Given the description of an element on the screen output the (x, y) to click on. 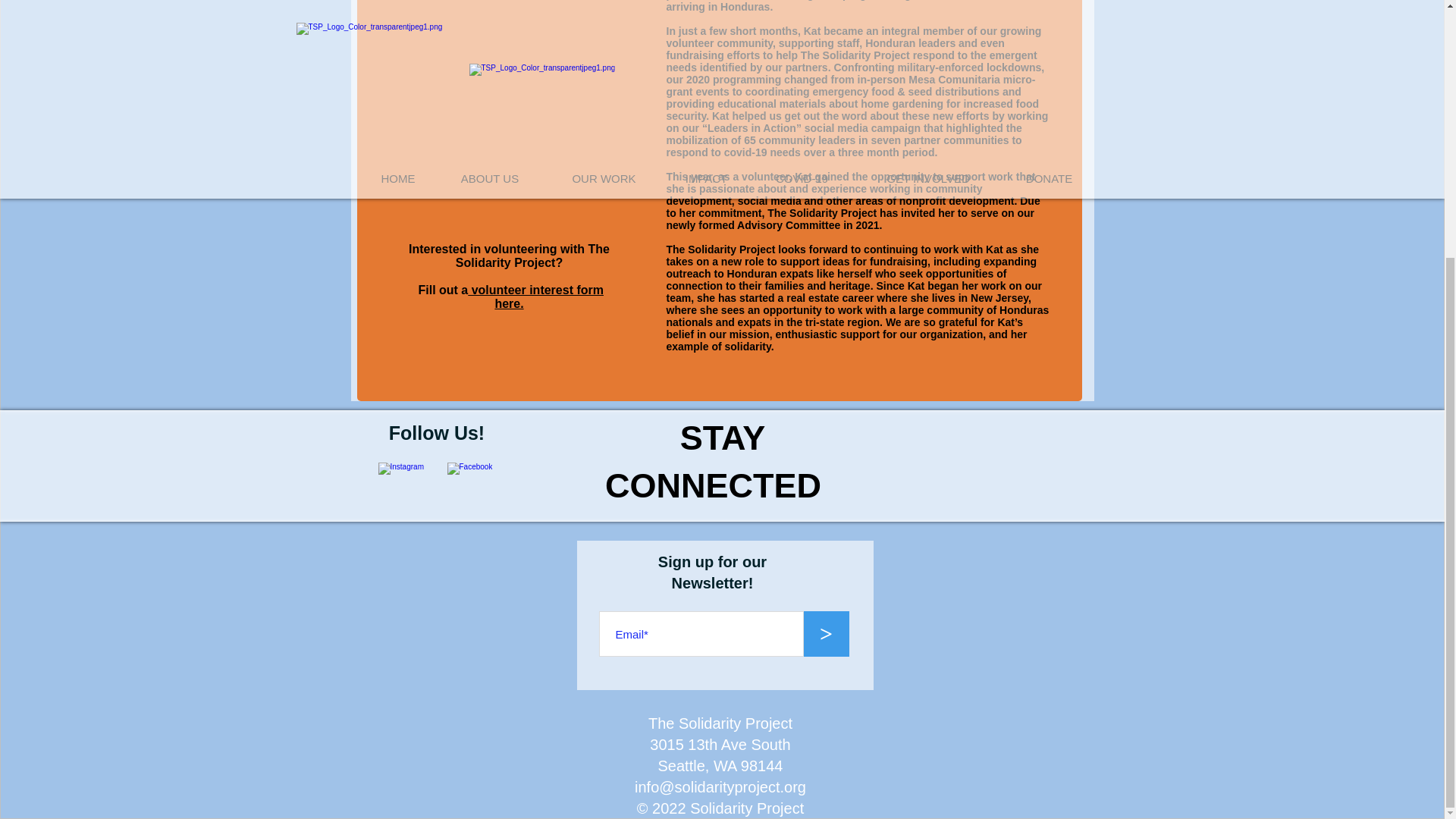
volunteer interest form here. (535, 296)
